Given the description of an element on the screen output the (x, y) to click on. 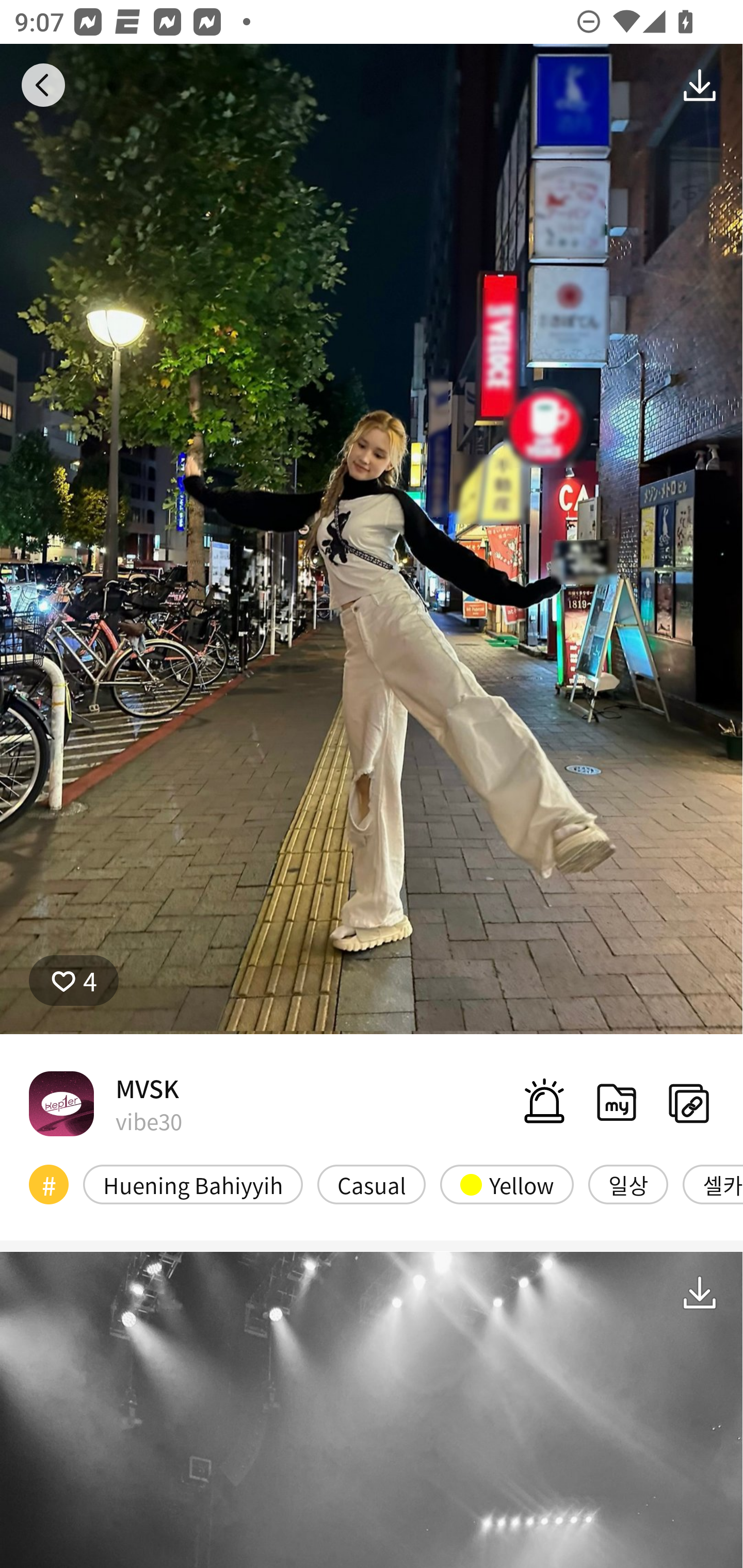
4 (73, 980)
MVSK vibe30 (105, 1102)
Huening Bahiyyih (193, 1184)
Casual (371, 1184)
Yellow (506, 1184)
일상 (627, 1184)
셀카 (712, 1184)
